Given the description of an element on the screen output the (x, y) to click on. 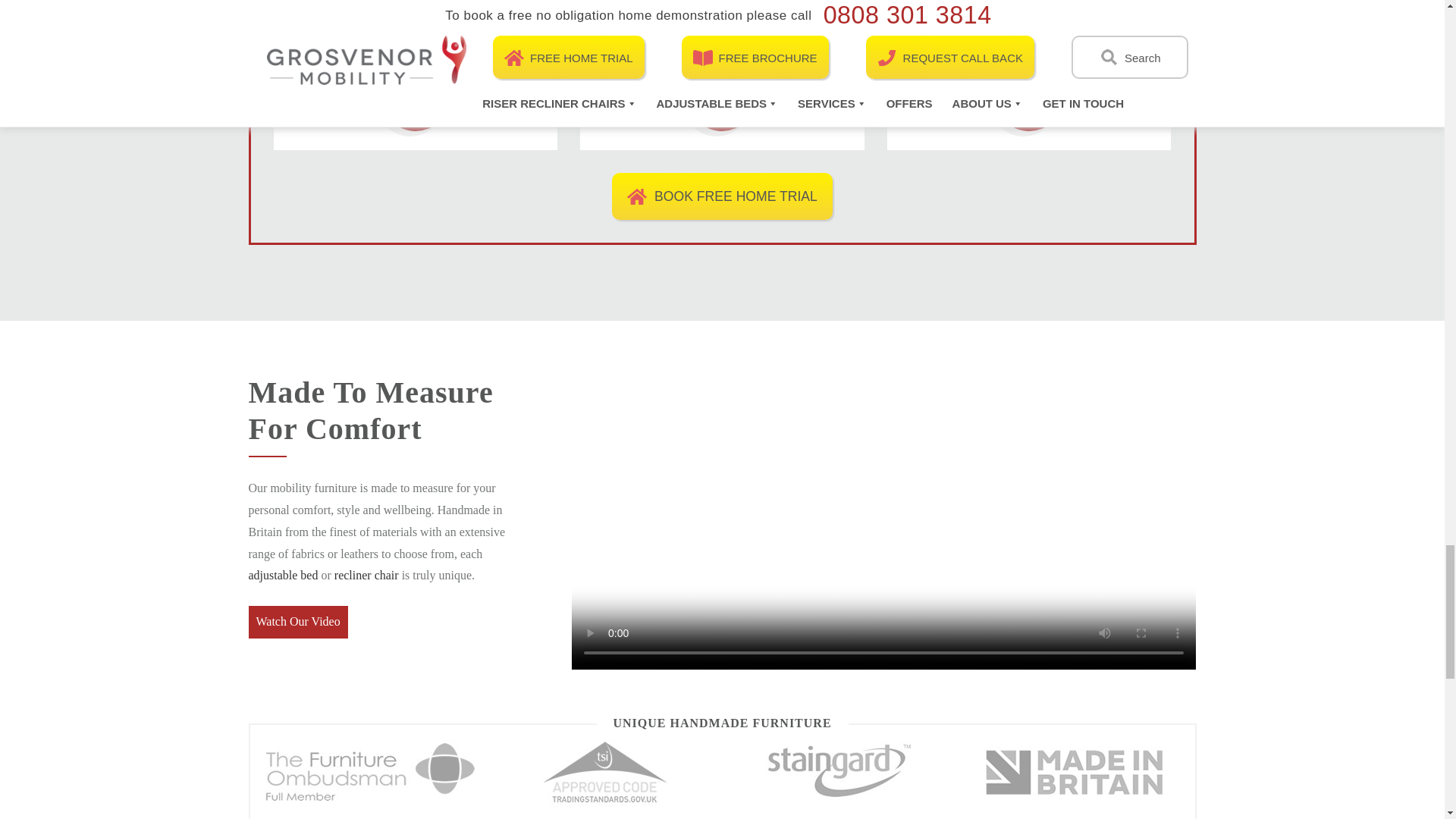
furn-logo3 (604, 771)
furn-logo1 (370, 771)
staingard (839, 771)
furn-logo5 (1072, 771)
